Given the description of an element on the screen output the (x, y) to click on. 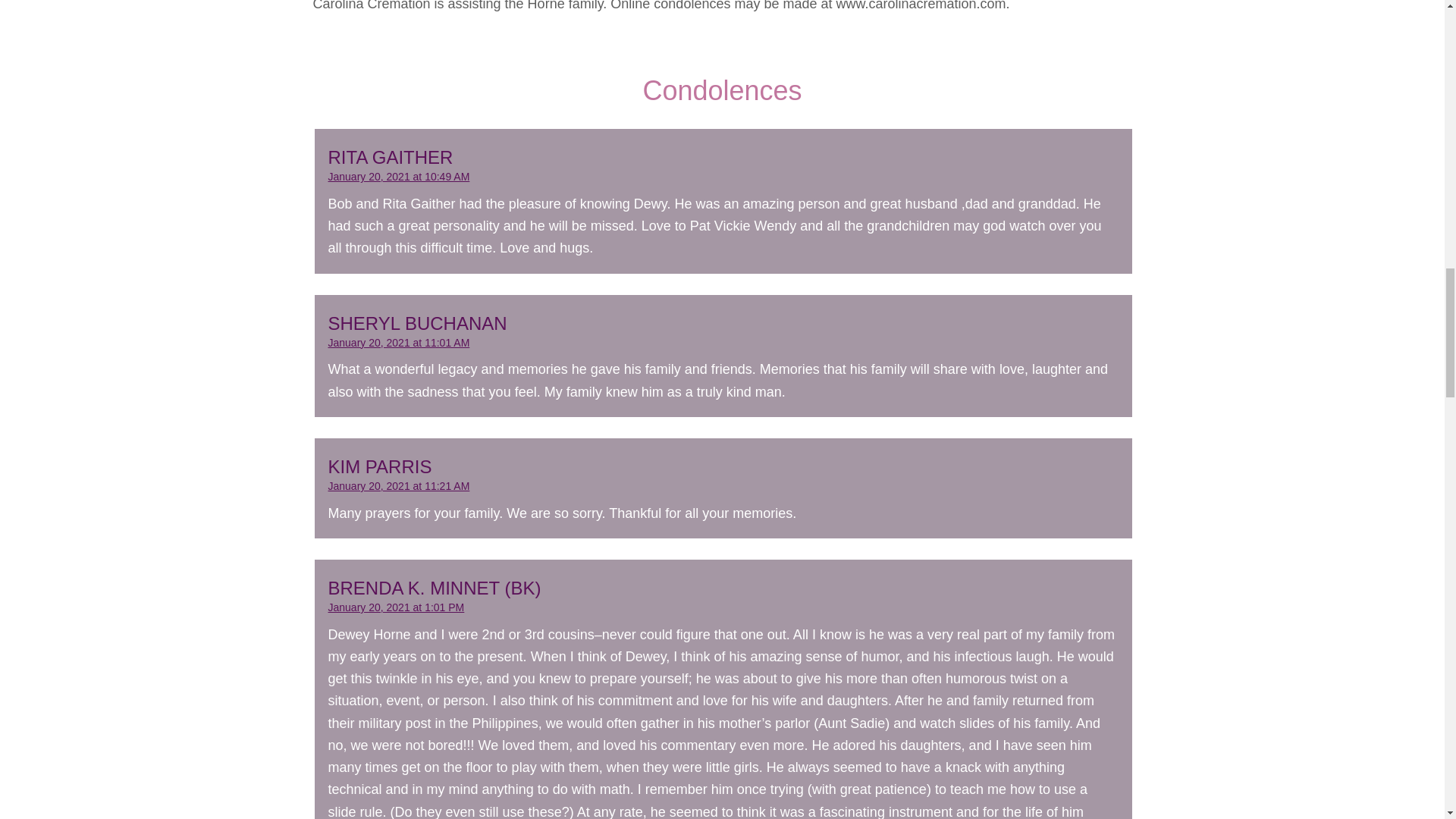
January 20, 2021 at 10:49 AM (397, 176)
January 20, 2021 at 11:01 AM (397, 342)
January 20, 2021 at 11:21 AM (397, 485)
January 20, 2021 at 1:01 PM (395, 607)
